Given the description of an element on the screen output the (x, y) to click on. 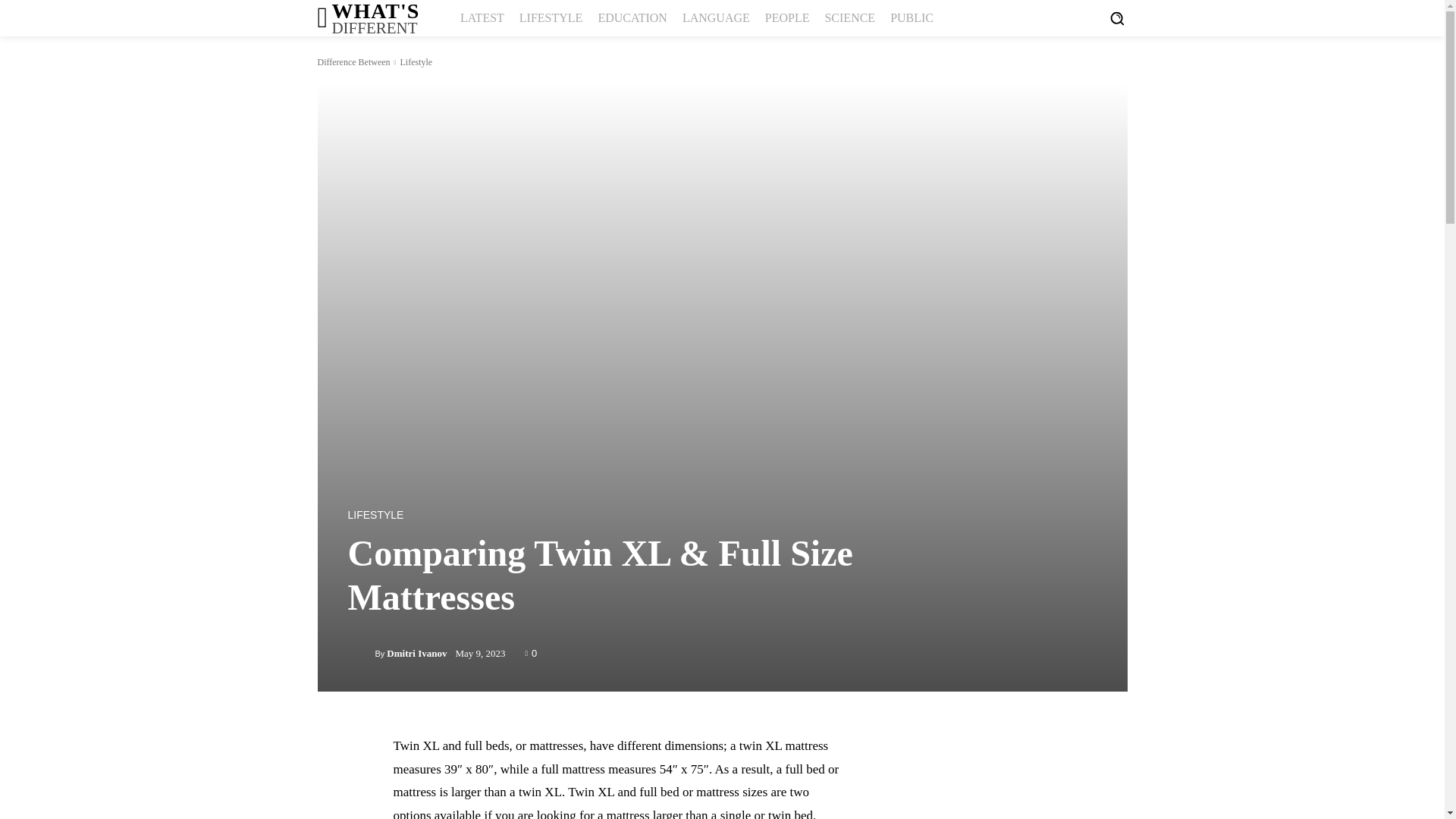
PEOPLE (786, 18)
Dmitri Ivanov (416, 653)
Dmitri Ivanov (360, 653)
SCIENCE (849, 18)
PUBLIC (911, 18)
0 (530, 652)
LIFESTYLE (551, 18)
Difference Between (366, 18)
LIFESTYLE (353, 61)
Lifestyle (375, 514)
EDUCATION (415, 61)
View all posts in Lifestyle (632, 18)
LANGUAGE (415, 61)
LATEST (716, 18)
